Given the description of an element on the screen output the (x, y) to click on. 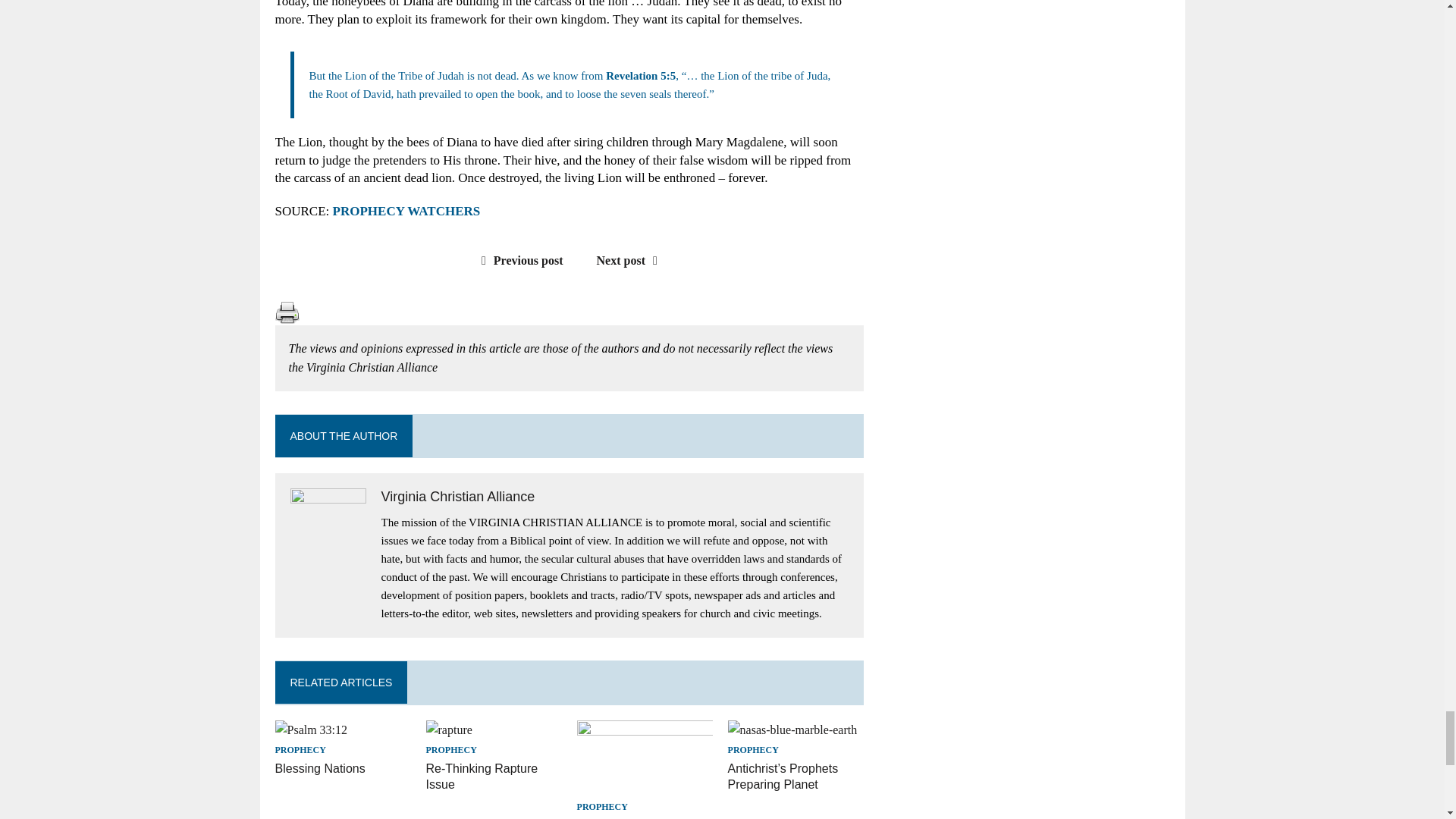
Blessing Nations (311, 729)
Blessing Nations (320, 768)
Re-Thinking Rapture Issue (448, 729)
